Given the description of an element on the screen output the (x, y) to click on. 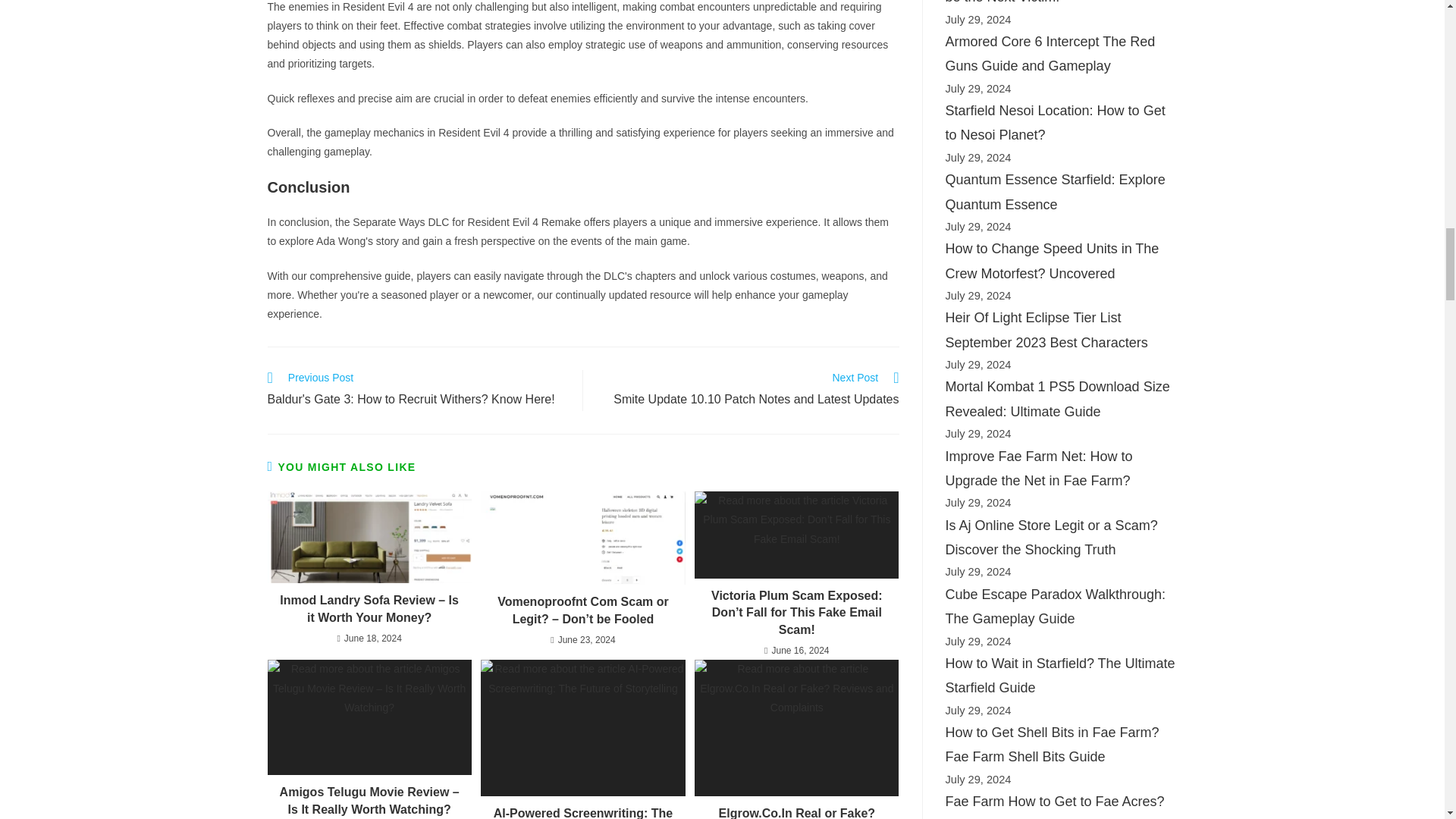
Inmod Landry Sofa Review - Is it Worth Your Money? (368, 537)
Elgrow.Co.In Real or Fake? Reviews and Complaints (796, 812)
AI-Powered Screenwriting: The Future of Storytelling (748, 390)
Elgrow.Co.In Real or Fake? Reviews and Complaints (582, 728)
Vomenoproofnt Com Scam or Legit? - Don't be Fooled (796, 728)
AI-Powered Screenwriting: The Future of Storytelling (582, 537)
